Given the description of an element on the screen output the (x, y) to click on. 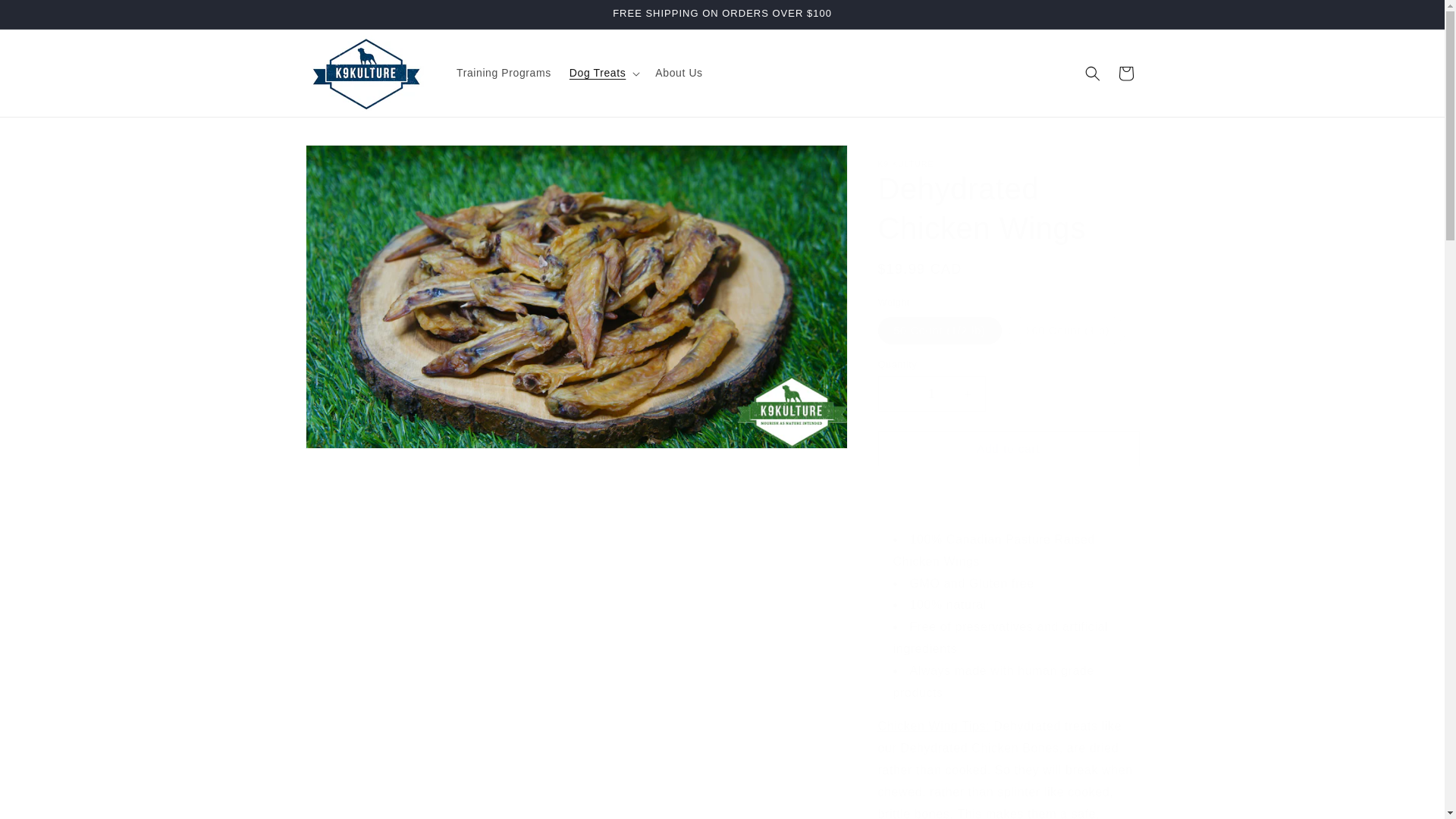
Cart (1124, 72)
Skip to product information (350, 161)
Decrease quantity for Dehydrated Chicken Wings (894, 393)
Add to cart (1008, 448)
About Us (678, 72)
1 (931, 393)
Increase quantity for Dehydrated Chicken Wings (967, 393)
Training Programs (503, 72)
Skip to content (45, 17)
